Given the description of an element on the screen output the (x, y) to click on. 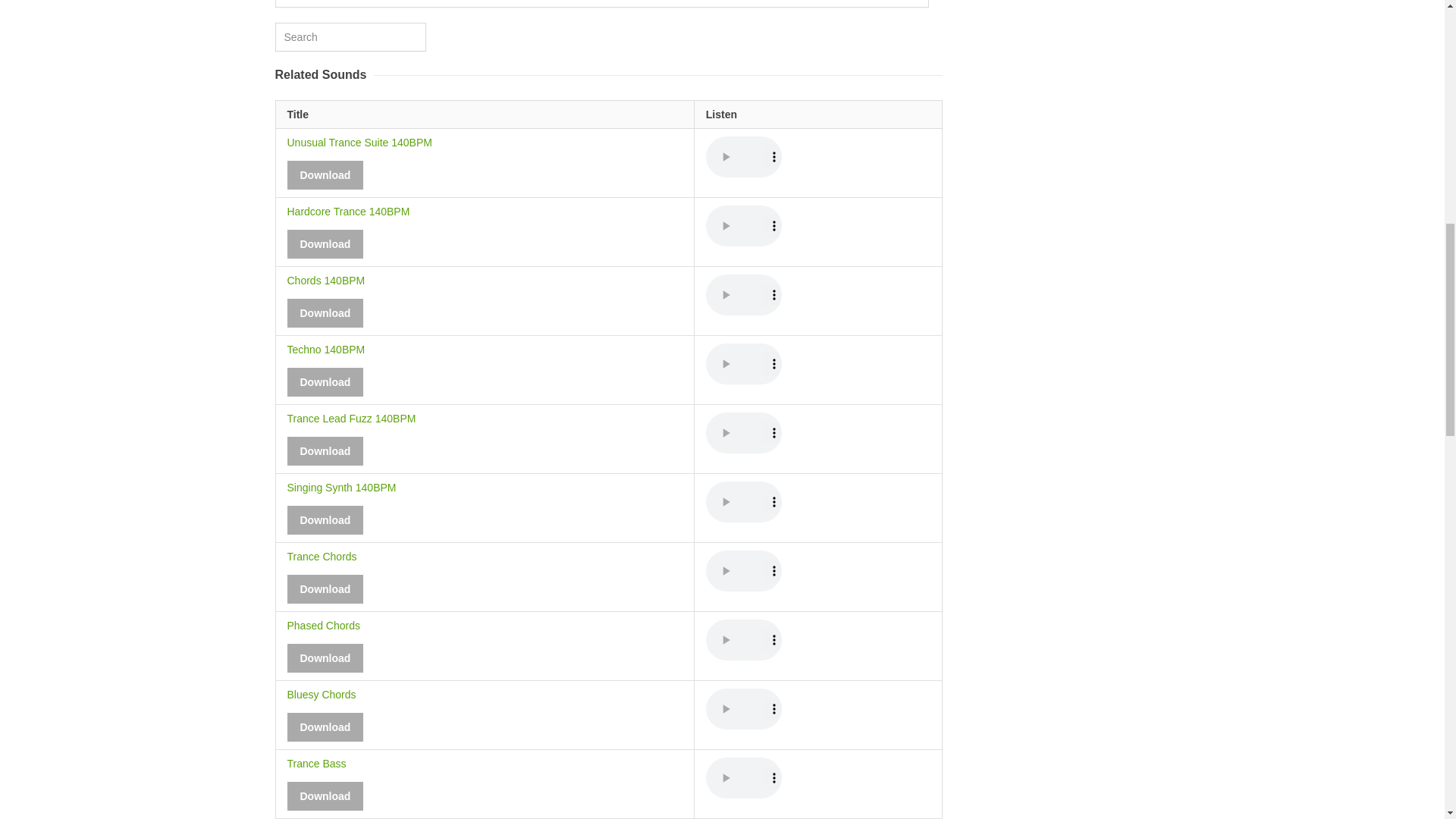
Download (324, 174)
Trance Chords (321, 562)
Trance Bass (316, 769)
Download (324, 381)
Phased Chords (322, 631)
Download (324, 451)
Techno 140BPM (325, 355)
Search (350, 36)
Download (324, 520)
Bluesy Chords (320, 700)
Download (324, 796)
Trance Lead Fuzz 140BPM (350, 424)
Singing Synth 140BPM (341, 493)
Chords 140BPM (325, 286)
Download (324, 312)
